Given the description of an element on the screen output the (x, y) to click on. 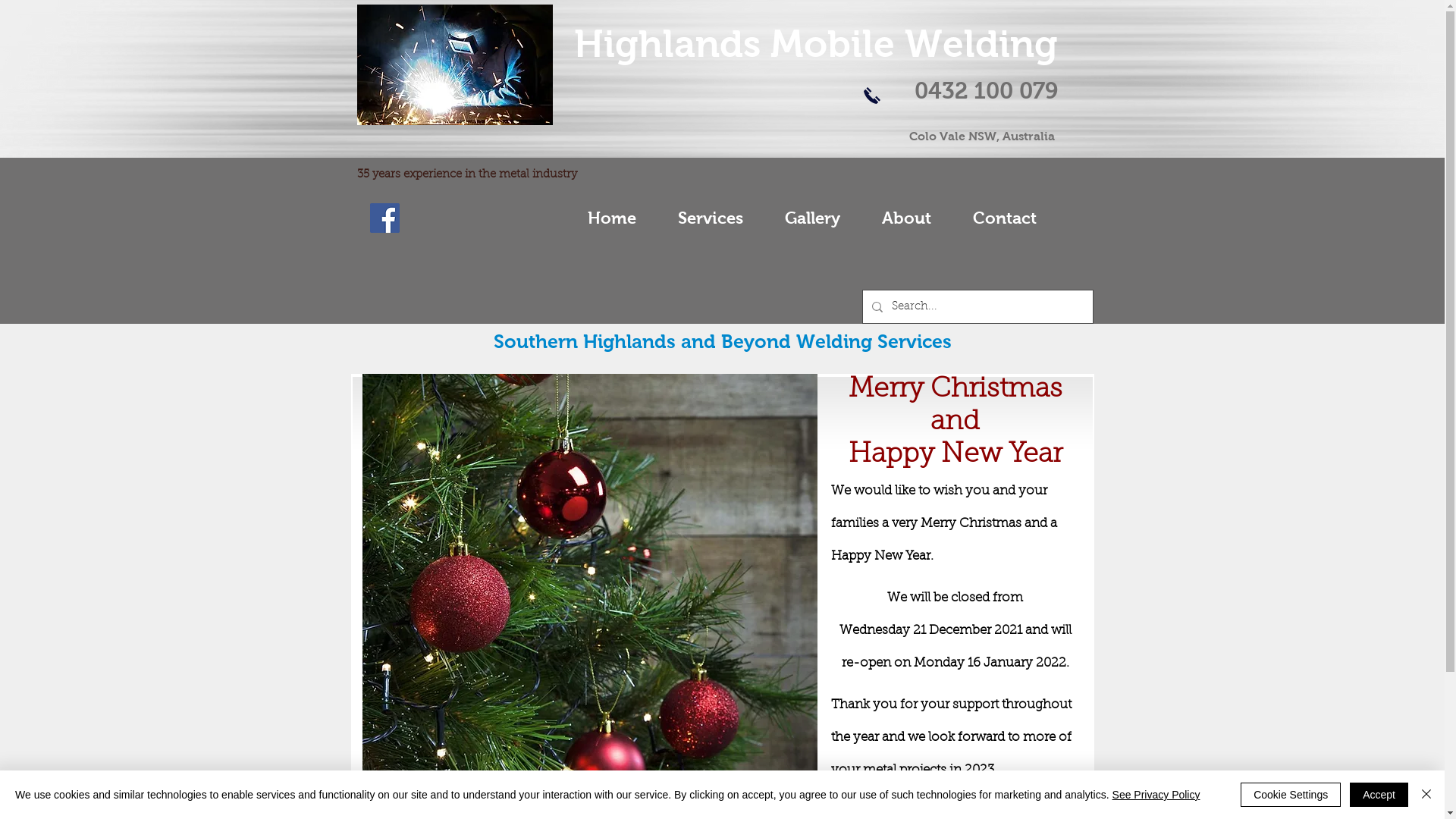
Contact Element type: text (1004, 217)
Cookie Settings Element type: text (1290, 794)
Home Element type: text (610, 217)
Services Element type: text (709, 217)
About Element type: text (906, 217)
See Privacy Policy Element type: text (1156, 794)
Accept Element type: text (1378, 794)
Gallery Element type: text (812, 217)
